Given the description of an element on the screen output the (x, y) to click on. 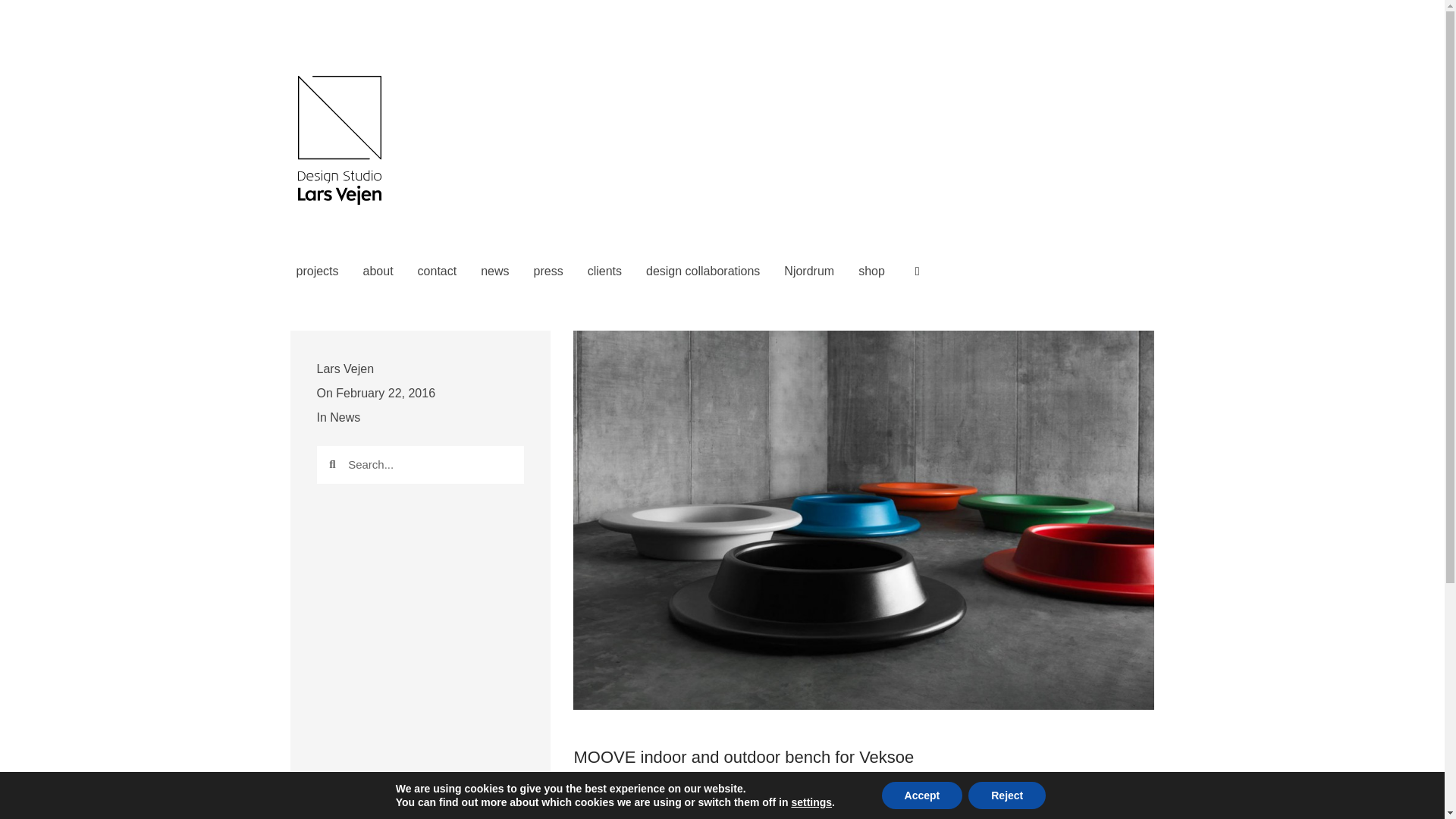
about (378, 271)
clients (604, 271)
Lars Vejen (345, 369)
design collaborations (702, 271)
shop (870, 271)
Accept (922, 795)
press (548, 271)
News (344, 417)
Njordrum (808, 271)
projects (316, 271)
news (494, 271)
settings (810, 802)
On February 22, 2016 (376, 393)
contact (437, 271)
Reject (1006, 795)
